Given the description of an element on the screen output the (x, y) to click on. 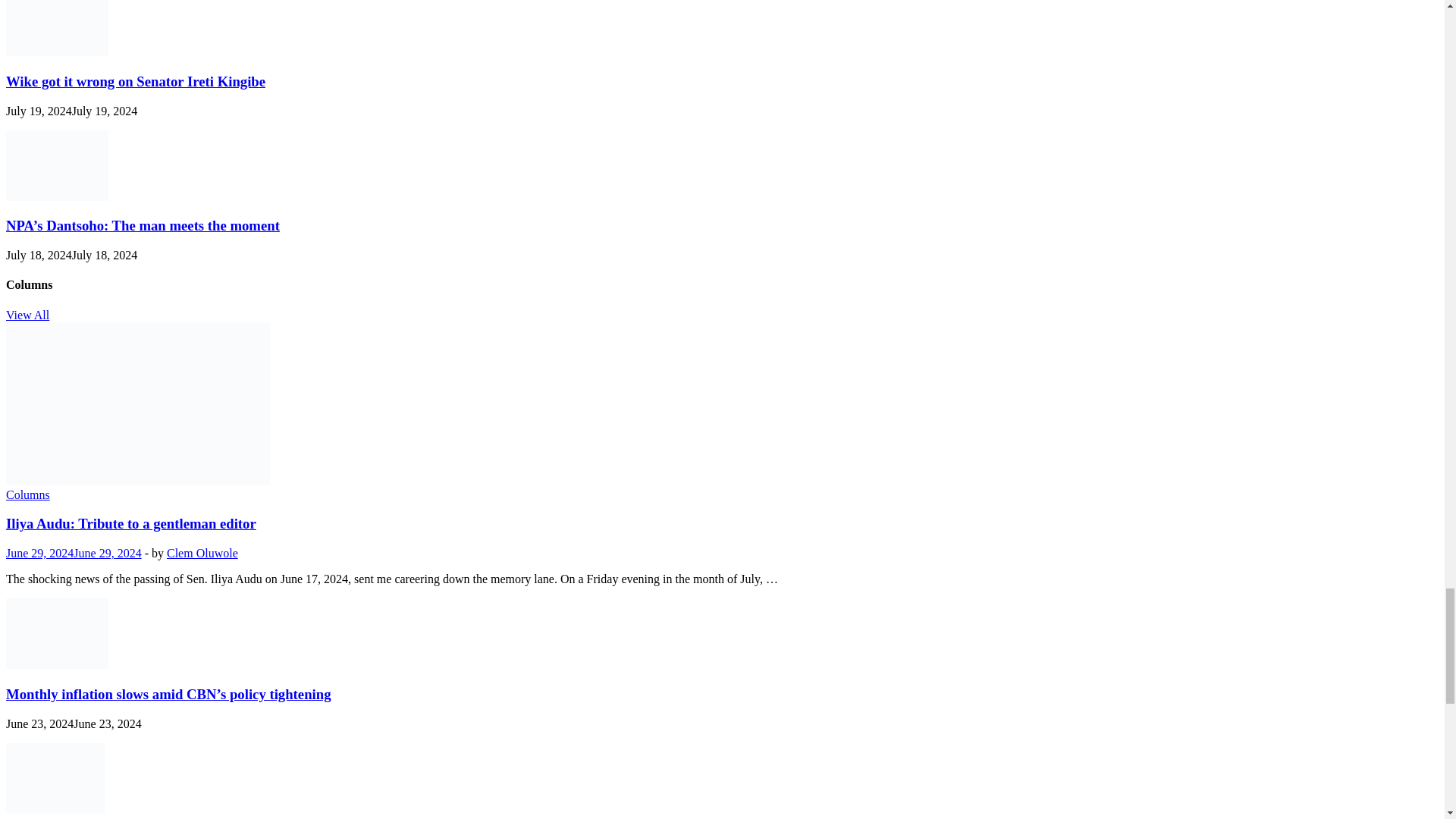
Iliya Audu: Tribute to a gentleman editor (137, 481)
Wike got it wrong on Senator Ireti Kingibe (56, 51)
